Given the description of an element on the screen output the (x, y) to click on. 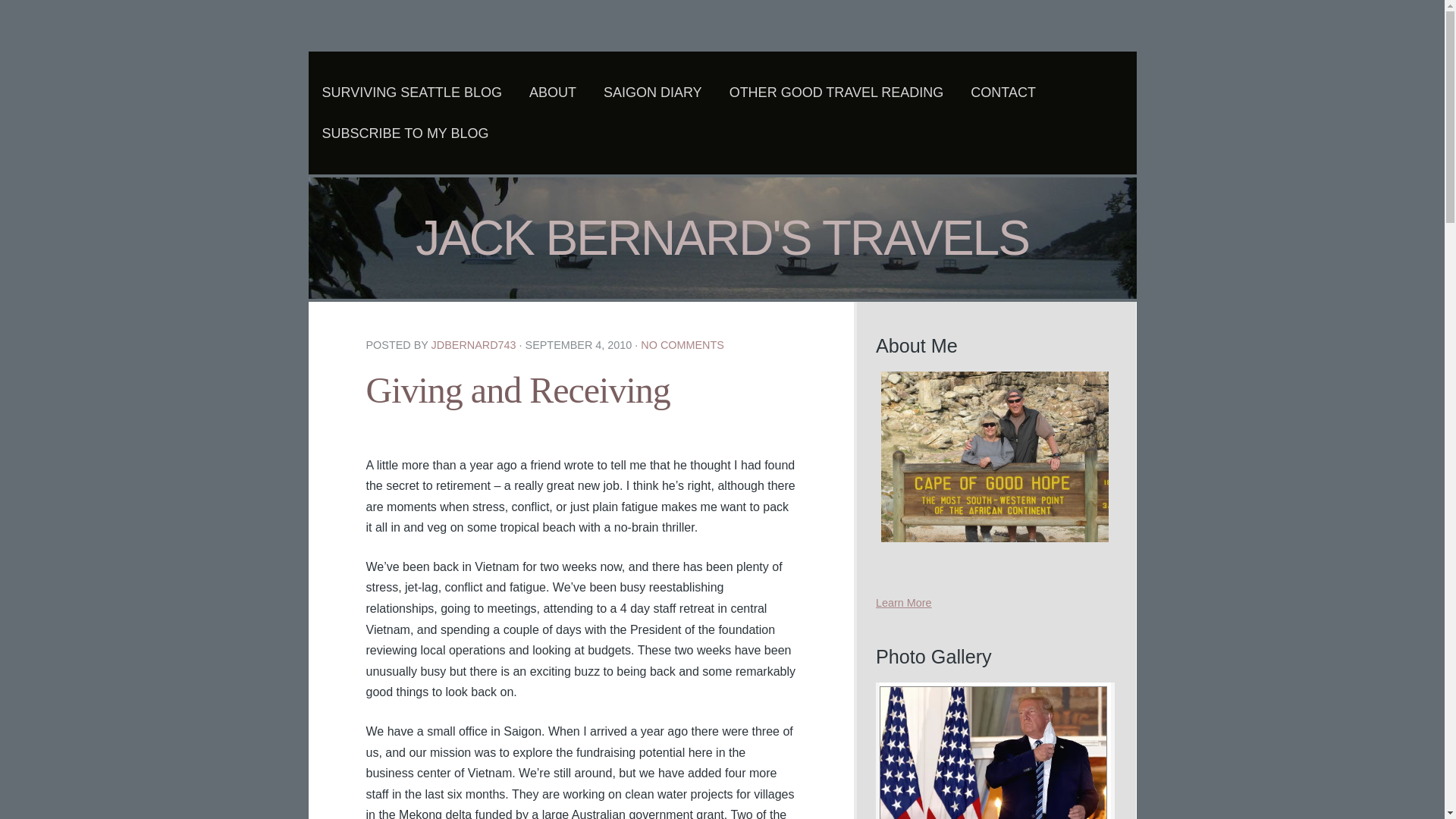
OTHER GOOD TRAVEL READING (836, 92)
jdbernard743 (473, 345)
SUBSCRIBE TO MY BLOG (404, 133)
SURVIVING SEATTLE BLOG (410, 92)
JDBERNARD743 (473, 345)
SAIGON DIARY (652, 92)
NO COMMENTS (681, 345)
CONTACT (1003, 92)
Learn More (903, 603)
JACK BERNARD'S TRAVELS (721, 237)
ABOUT (552, 92)
Giving and Receiving (517, 390)
